Given the description of an element on the screen output the (x, y) to click on. 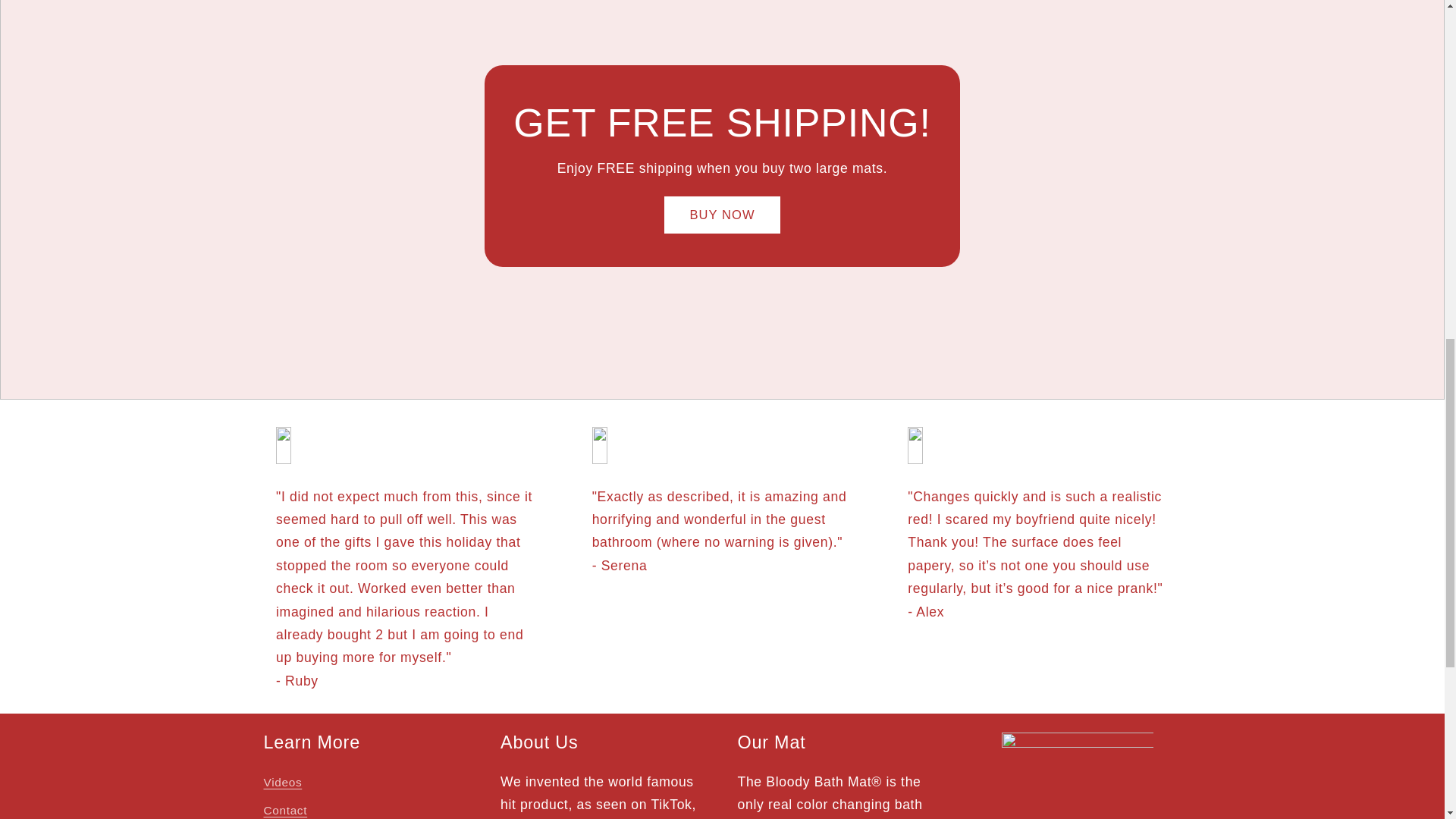
Videos (282, 784)
Contact (285, 807)
BUY NOW (720, 215)
